Given the description of an element on the screen output the (x, y) to click on. 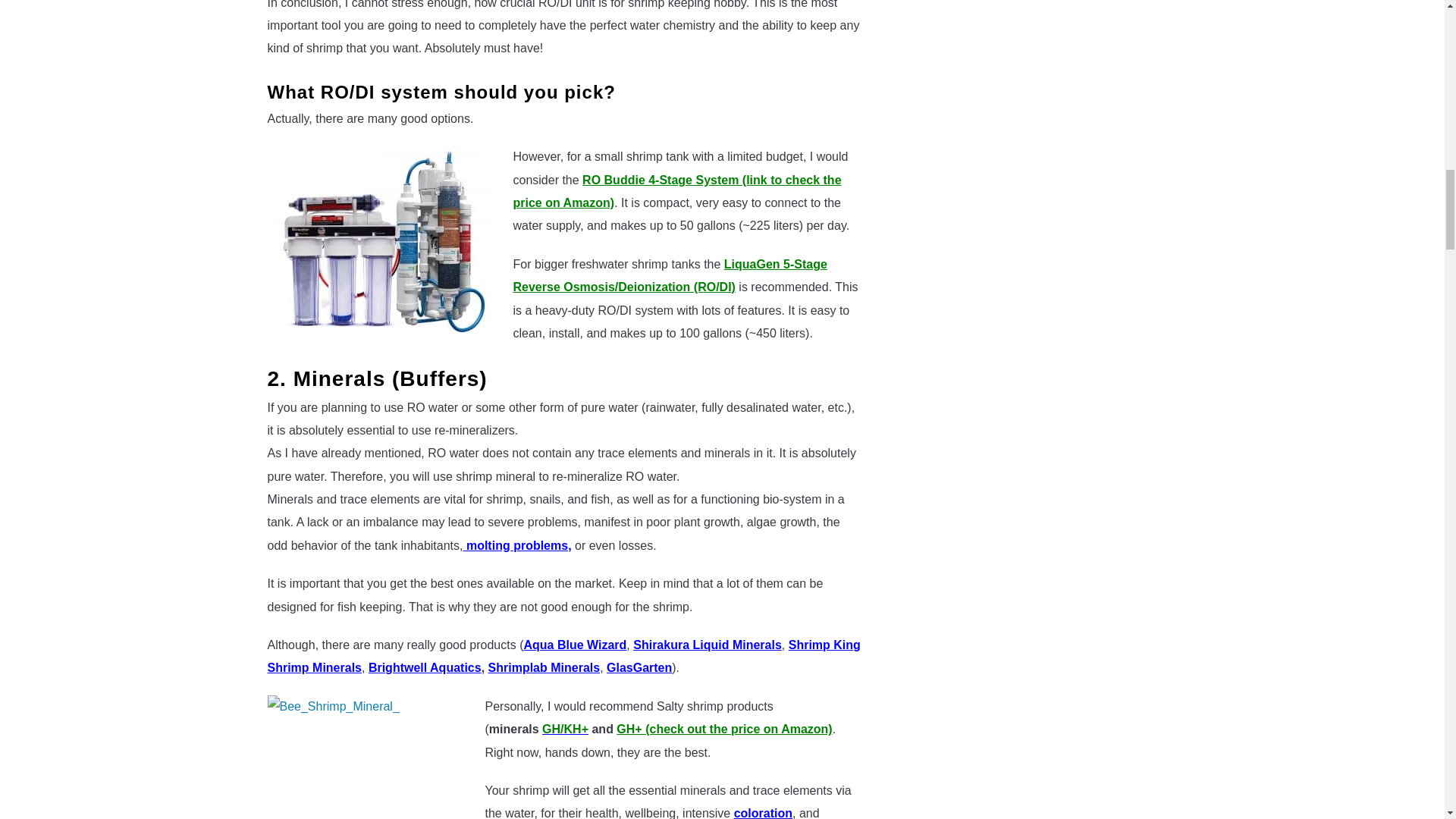
Brightwell Aquatics (424, 667)
GlasGarten (639, 667)
Shrimplab Minerals (543, 667)
molting problems (515, 545)
Aqua Blue Wizard (574, 644)
Shirakura Liquid Minerals (707, 644)
Shrimp King Shrimp Minerals (563, 656)
